Given the description of an element on the screen output the (x, y) to click on. 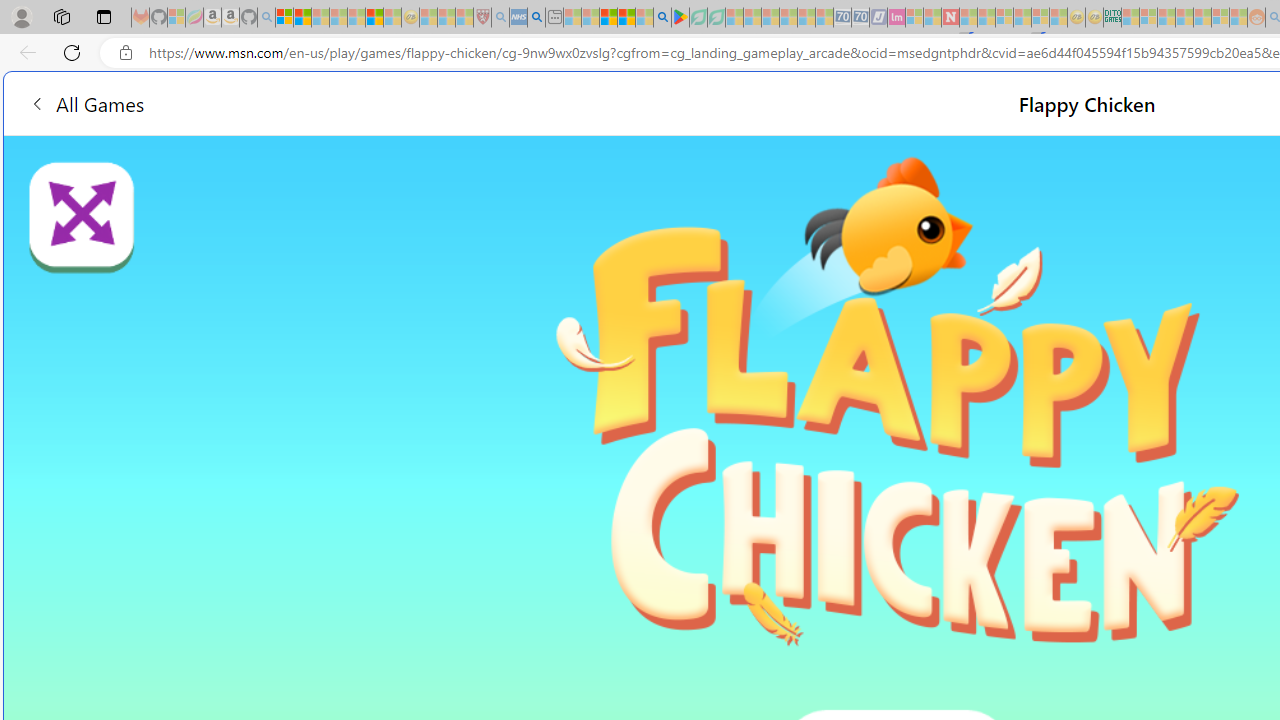
All Games (86, 102)
Pets - MSN (626, 17)
